Given the description of an element on the screen output the (x, y) to click on. 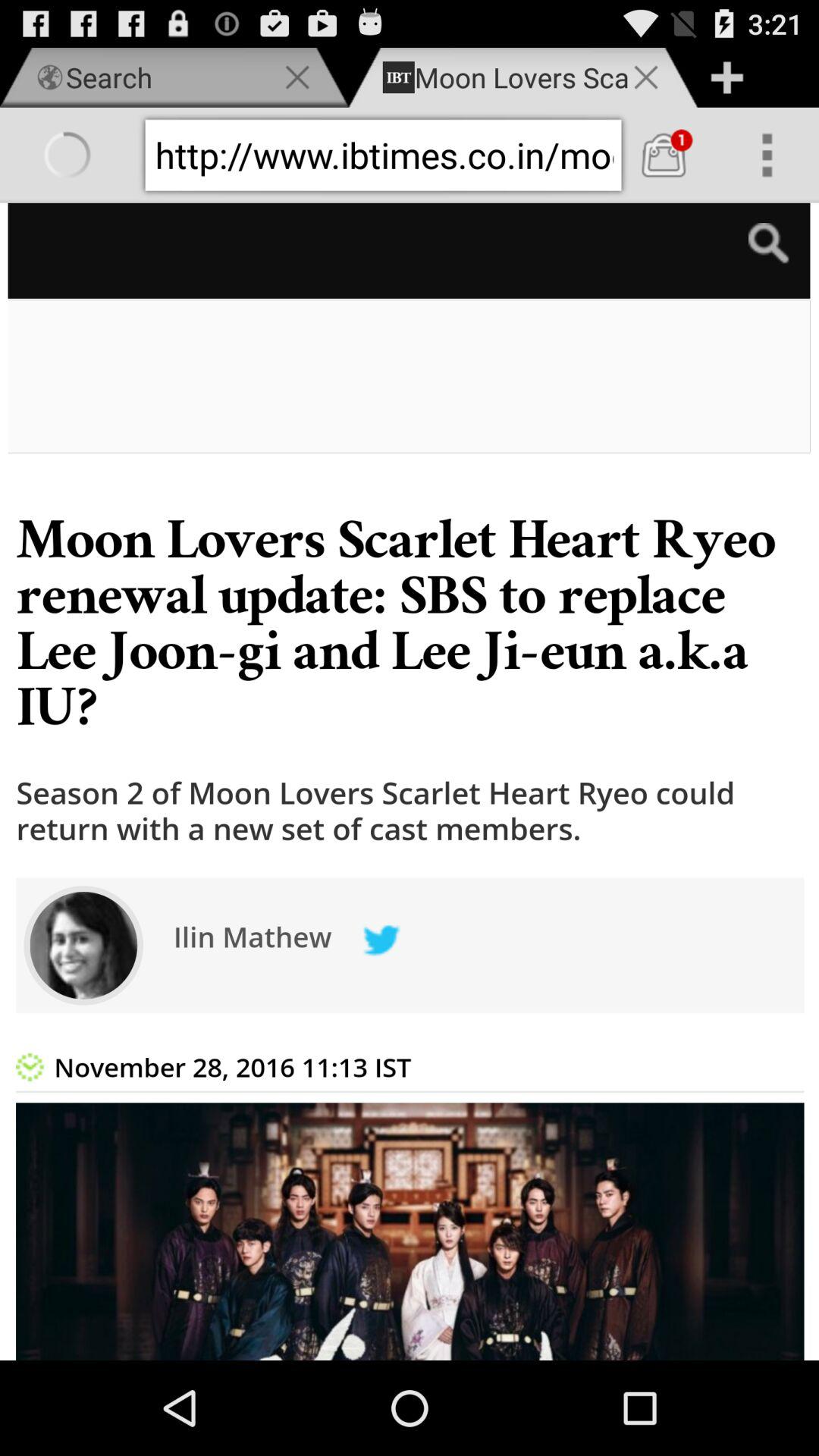
open more settings (767, 155)
